Given the description of an element on the screen output the (x, y) to click on. 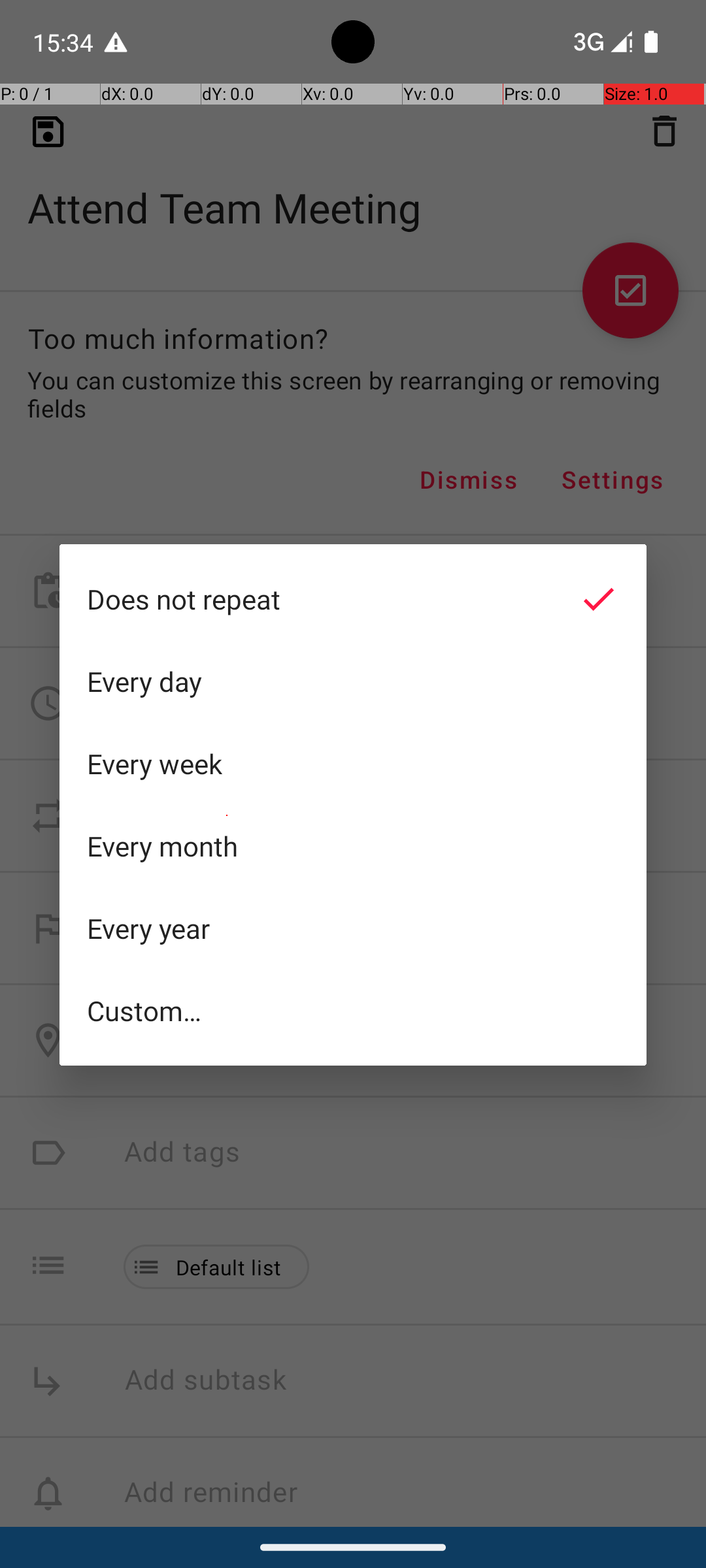
Every day Element type: android.widget.CheckedTextView (352, 681)
Every week Element type: android.widget.CheckedTextView (352, 763)
Every month Element type: android.widget.CheckedTextView (352, 845)
Every year Element type: android.widget.CheckedTextView (352, 928)
Custom… Element type: android.widget.CheckedTextView (352, 1010)
